Given the description of an element on the screen output the (x, y) to click on. 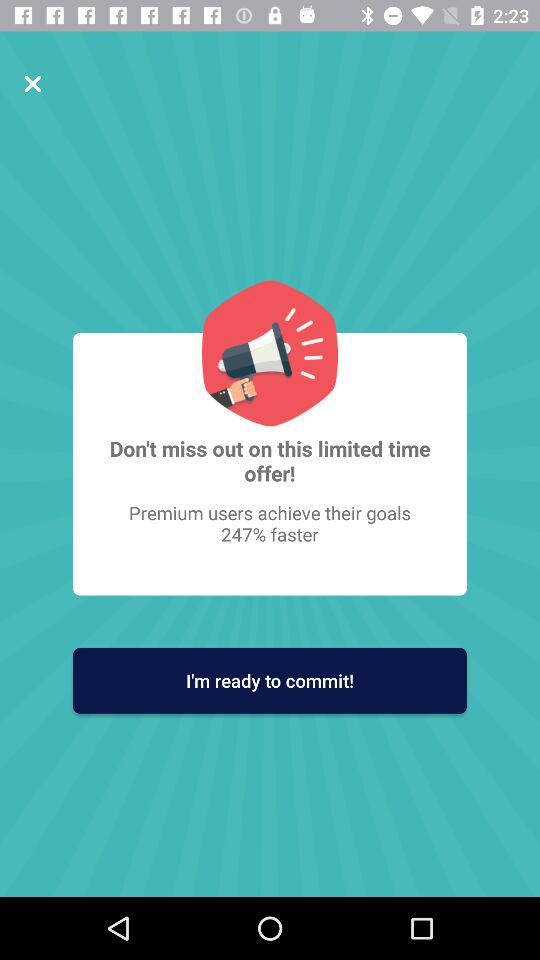
select the i m ready (269, 680)
